Given the description of an element on the screen output the (x, y) to click on. 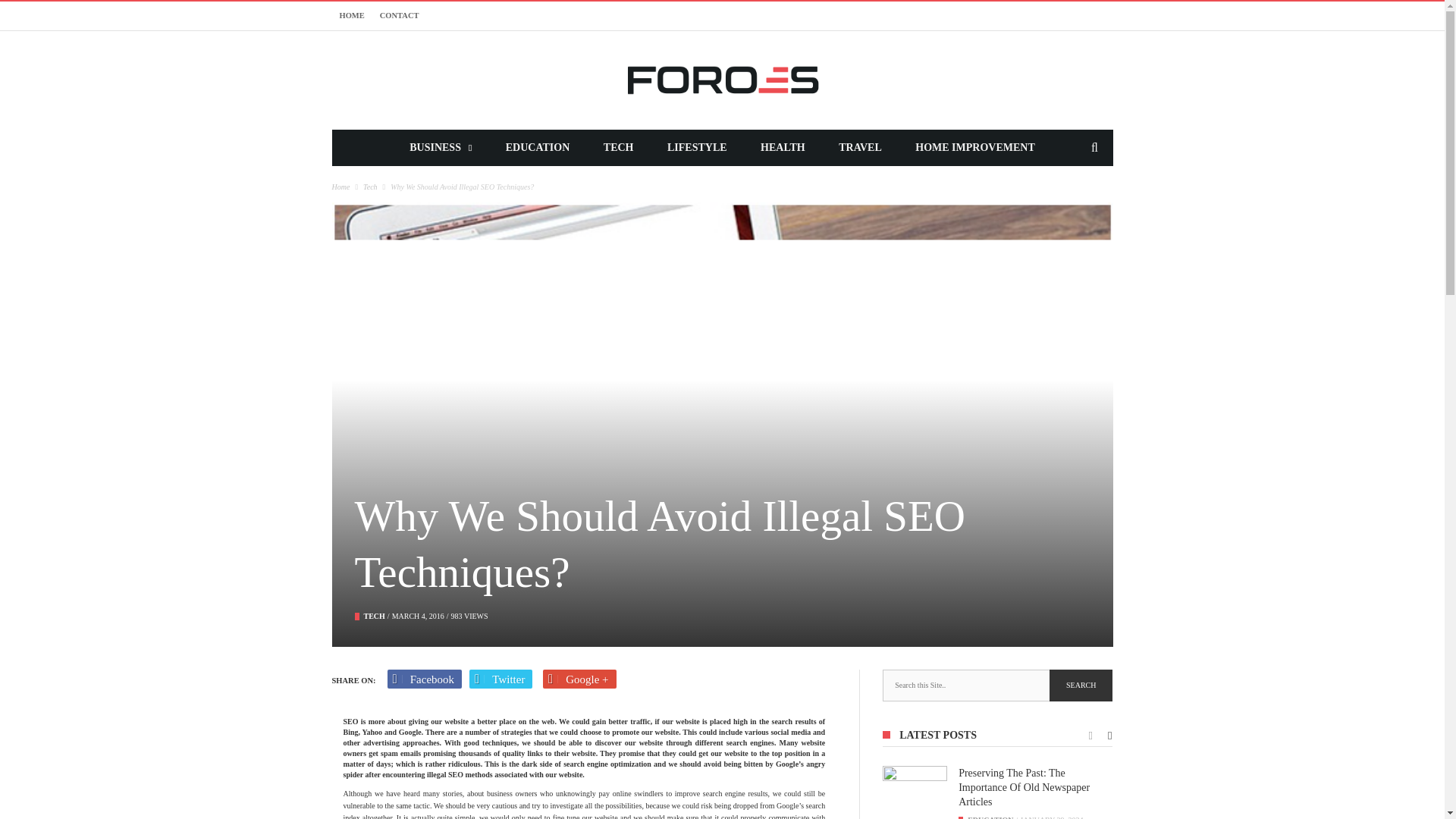
TECH (618, 147)
Education (990, 817)
Home (340, 186)
CONTACT (399, 15)
LIFESTYLE (696, 147)
Tech (374, 615)
HOME (351, 15)
Search (1080, 685)
Twitter (500, 678)
TECH (374, 615)
